Given the description of an element on the screen output the (x, y) to click on. 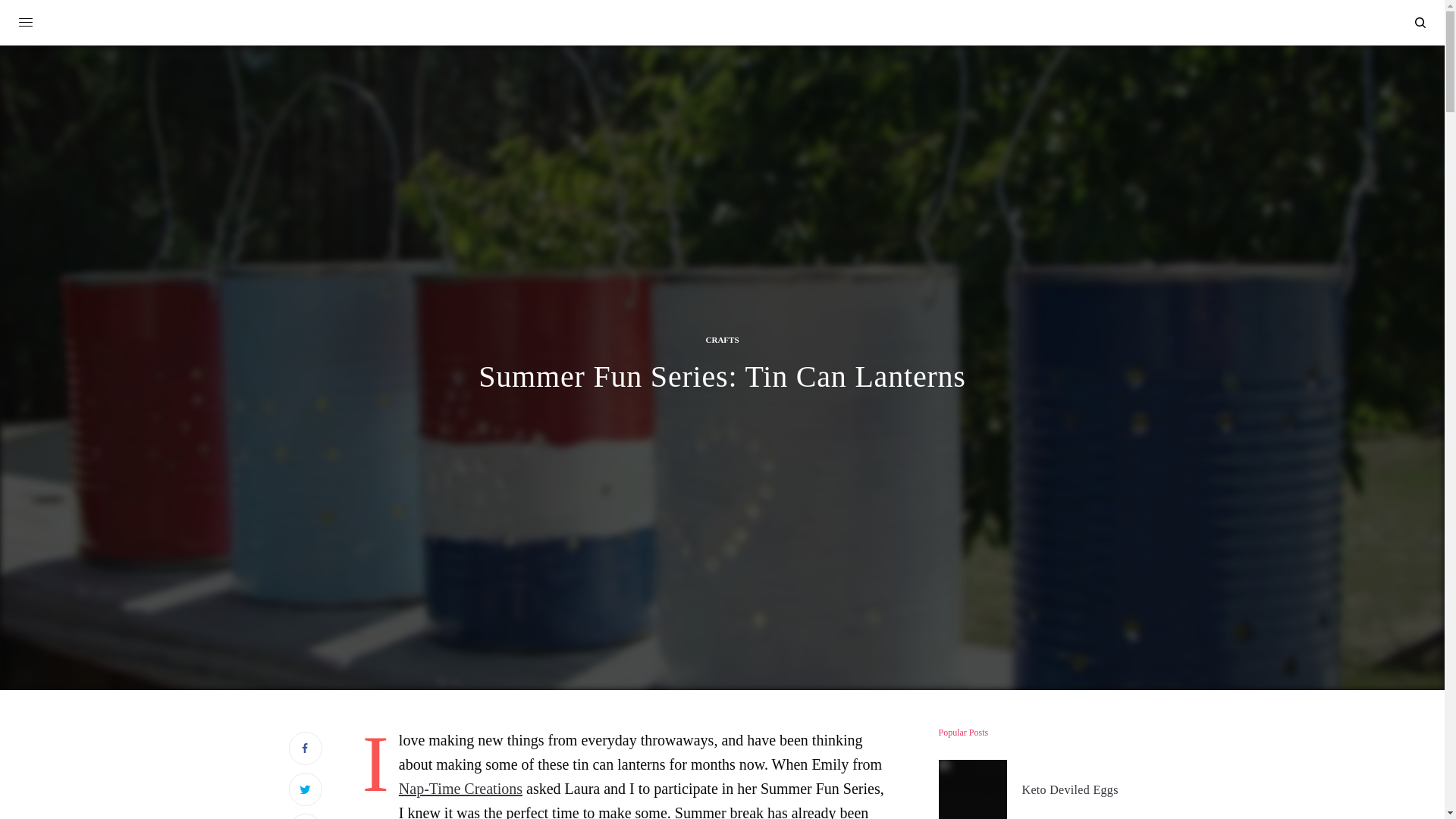
CRAFTS (721, 339)
Nap-Time Creations (460, 788)
About a Mom (722, 24)
Keto Deviled Eggs (1070, 790)
